Given the description of an element on the screen output the (x, y) to click on. 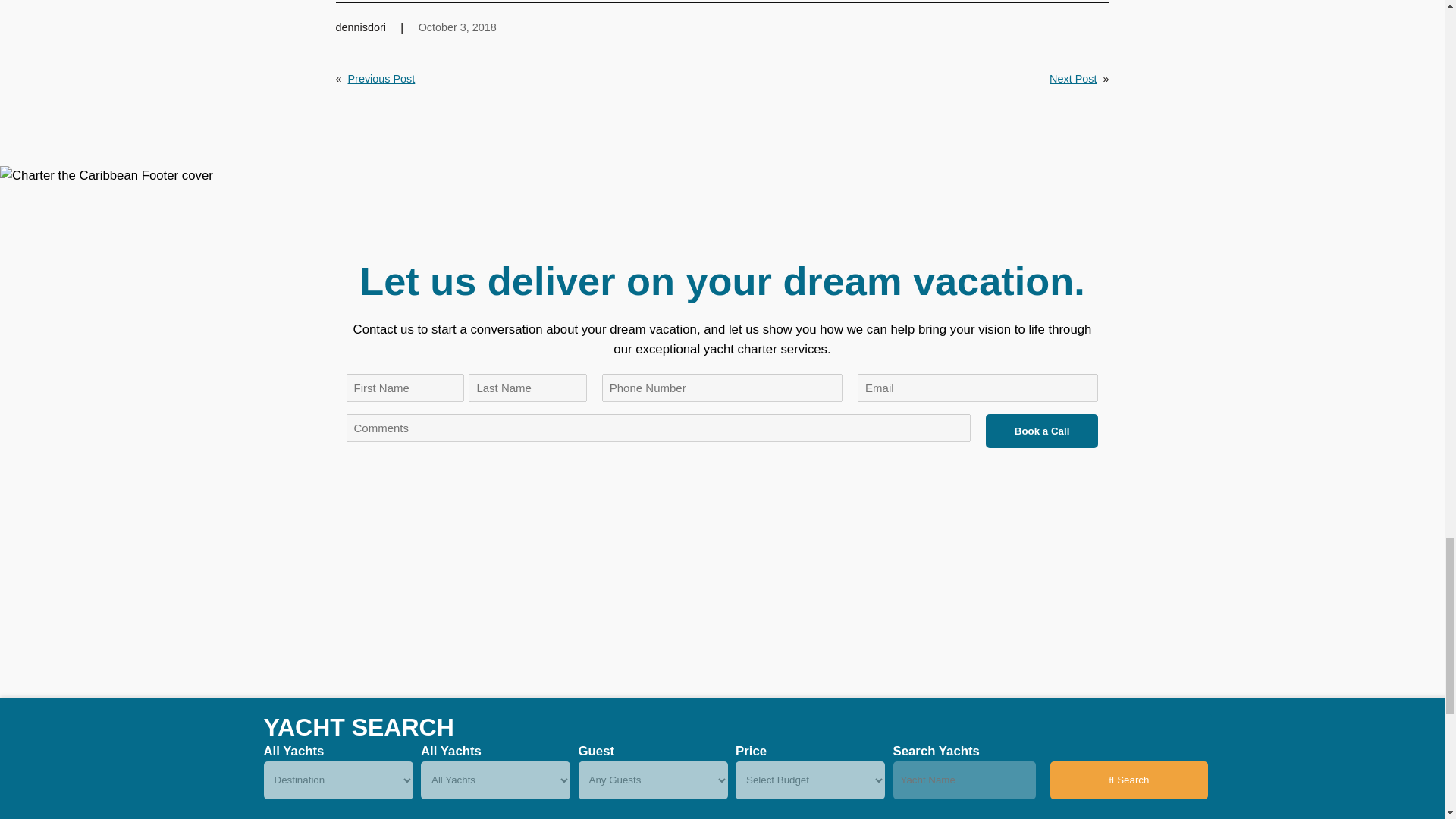
Book a Call (1042, 430)
Book a Call (1042, 430)
Next Post (1072, 78)
Previous Post (380, 78)
